Given the description of an element on the screen output the (x, y) to click on. 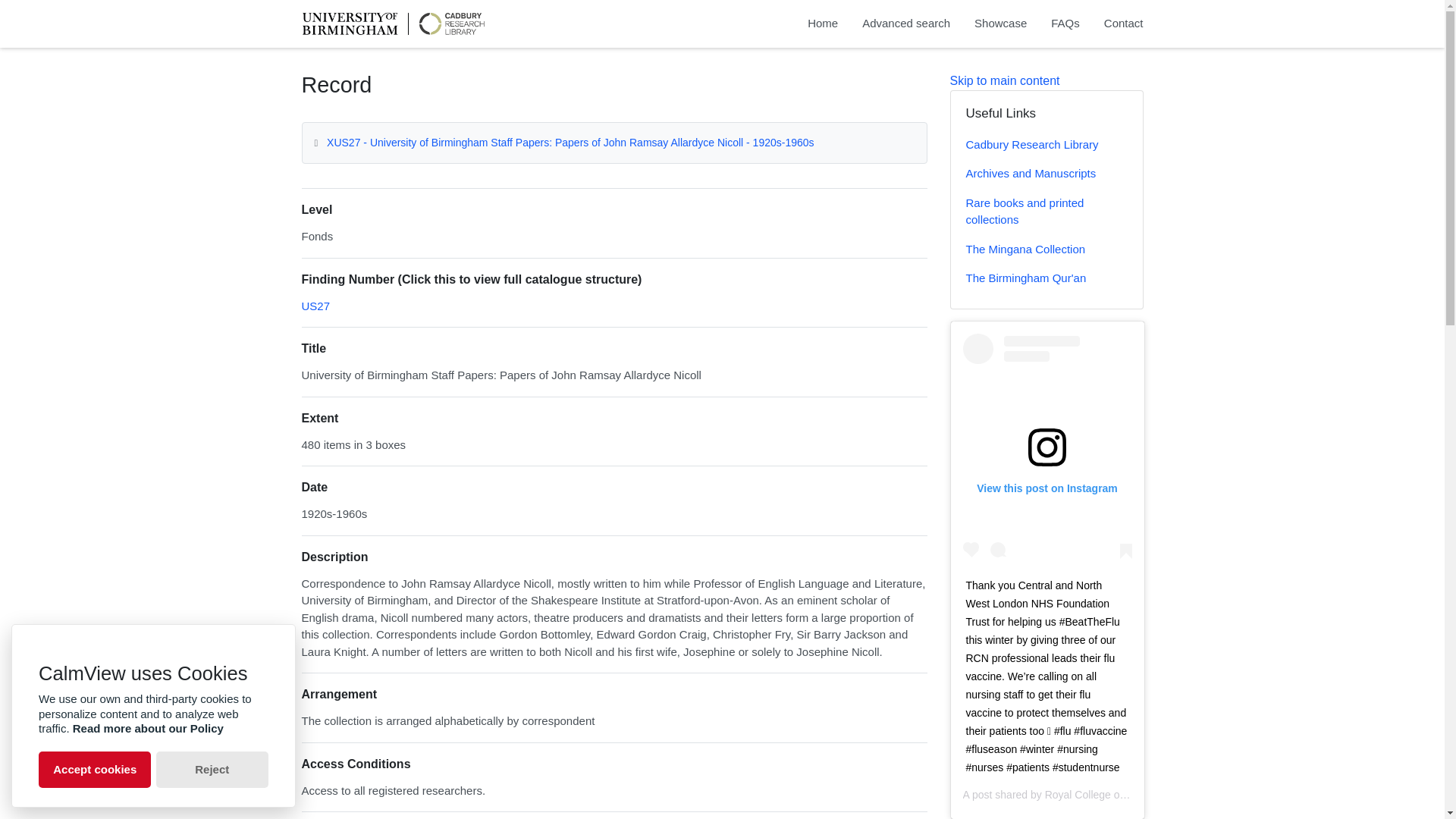
Rare books and printed collections (1046, 212)
Cadbury Research Library (1046, 144)
Homepage (392, 23)
Accept cookies (95, 769)
Advanced search (905, 23)
Read more about our Policy (148, 727)
Reject (211, 769)
Skip to main content (1004, 80)
Royal College of Nursing (1103, 794)
The Birmingham Qur'an (1046, 278)
Showcase (1000, 23)
Archives and Manuscripts (1046, 173)
Browse record in hierarchy. (315, 305)
The Mingana Collection (1046, 249)
